Given the description of an element on the screen output the (x, y) to click on. 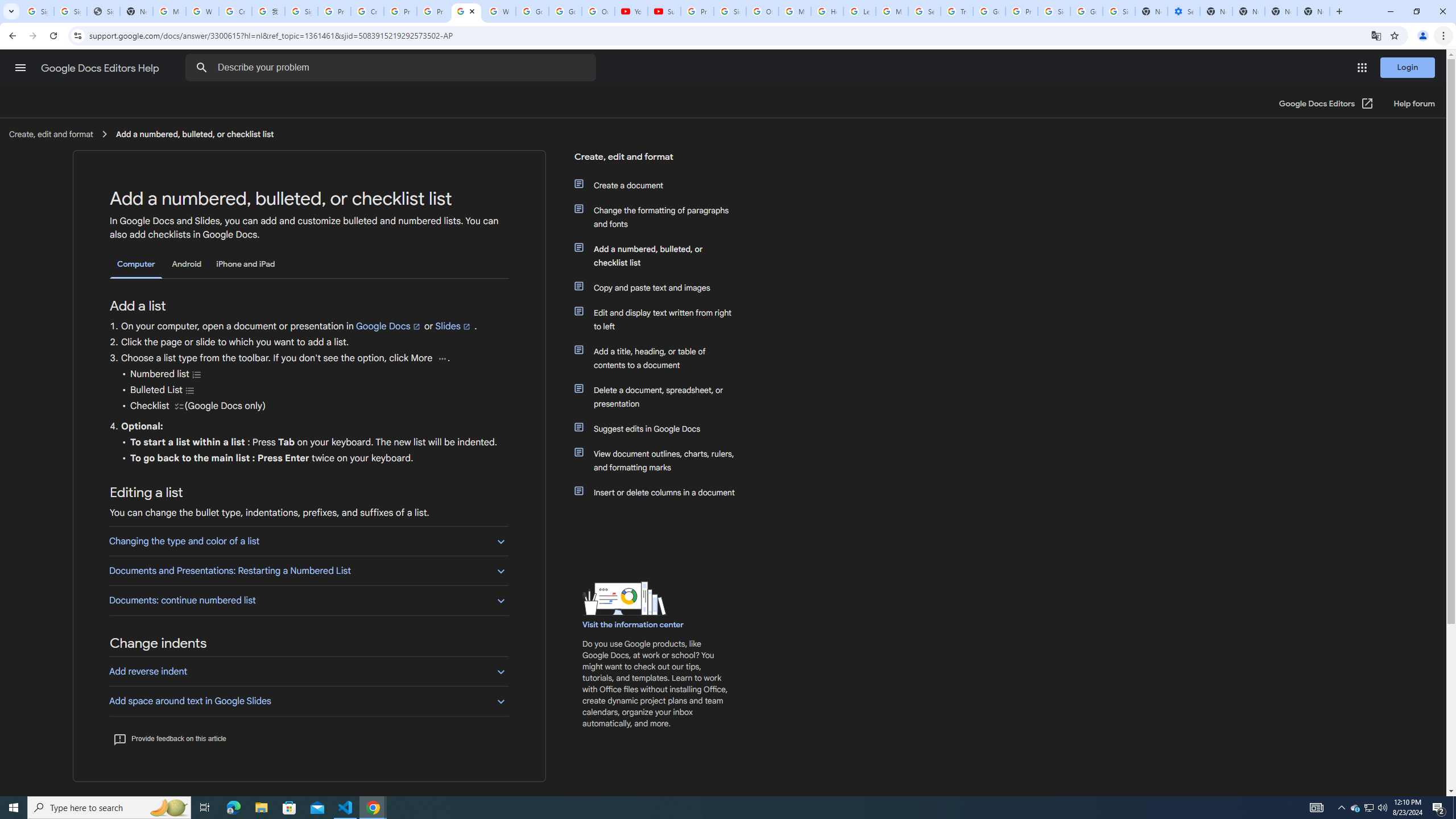
Describe your problem (391, 67)
Android (186, 263)
YouTube (631, 11)
Google Ads - Sign in (989, 11)
Minimize (1390, 11)
Sign in - Google Accounts (1053, 11)
You (1422, 35)
Sign in - Google Accounts (730, 11)
Documents and Presentations: Restarting a Numbered List (308, 570)
Bulleted List (189, 389)
Google Docs Editors (Opens in new window) (1326, 103)
